Given the description of an element on the screen output the (x, y) to click on. 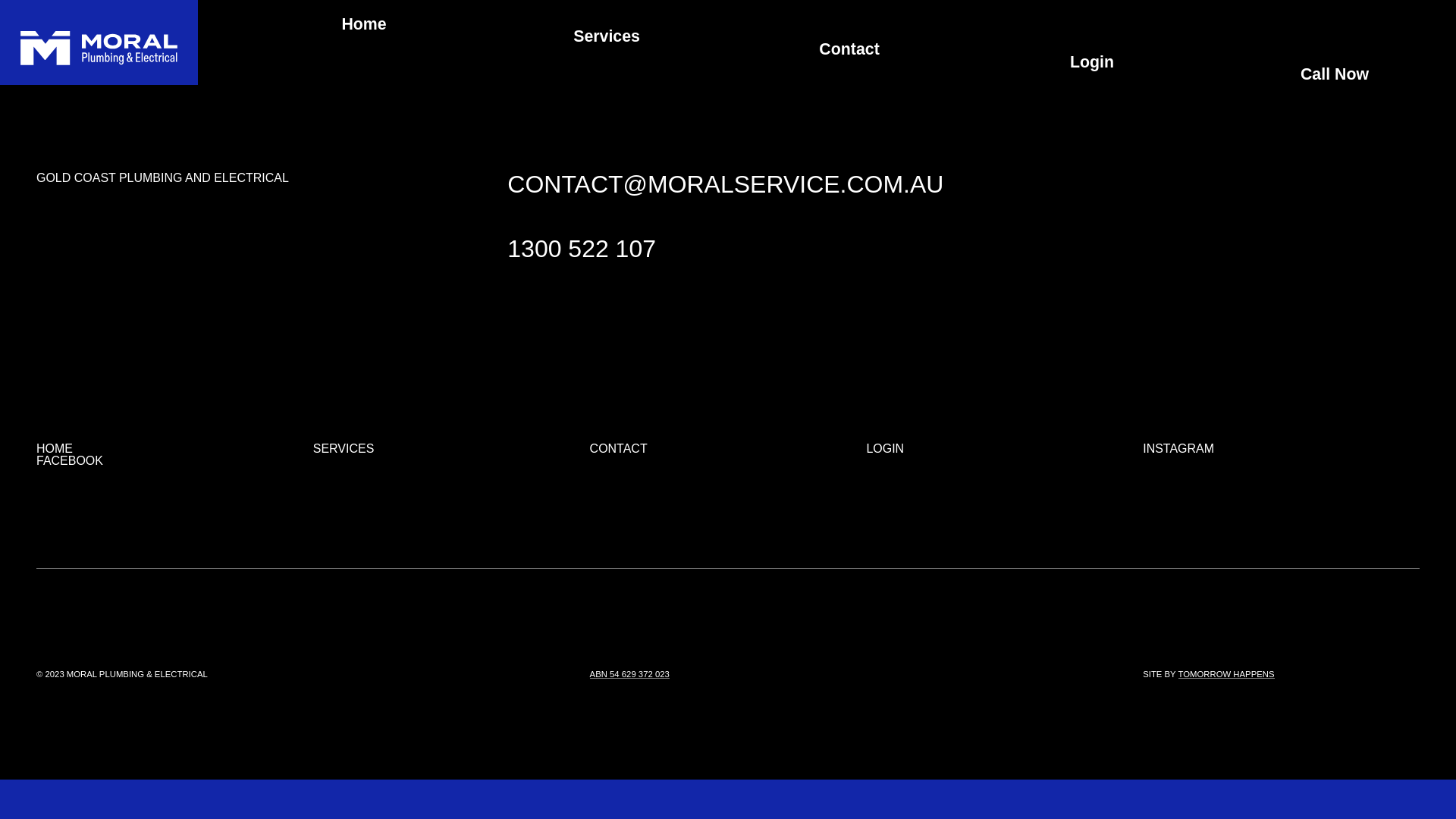
INSTAGRAM Element type: text (1178, 448)
SERVICES Element type: text (343, 448)
Contact Element type: text (849, 36)
LOGIN Element type: text (884, 448)
FACEBOOK Element type: text (69, 461)
ABN 54 629 372 023 Element type: text (629, 674)
TOMORROW HAPPENS Element type: text (1226, 674)
Home Element type: text (363, 23)
1300 522 107 Element type: text (581, 248)
Moral Plumbing & Electrical Element type: text (99, 48)
HOME Element type: text (54, 448)
CONTACT Element type: text (618, 448)
Login Element type: text (1091, 42)
CONTACT@MORALSERVICE.COM.AU Element type: text (725, 184)
Services Element type: text (606, 29)
